Given the description of an element on the screen output the (x, y) to click on. 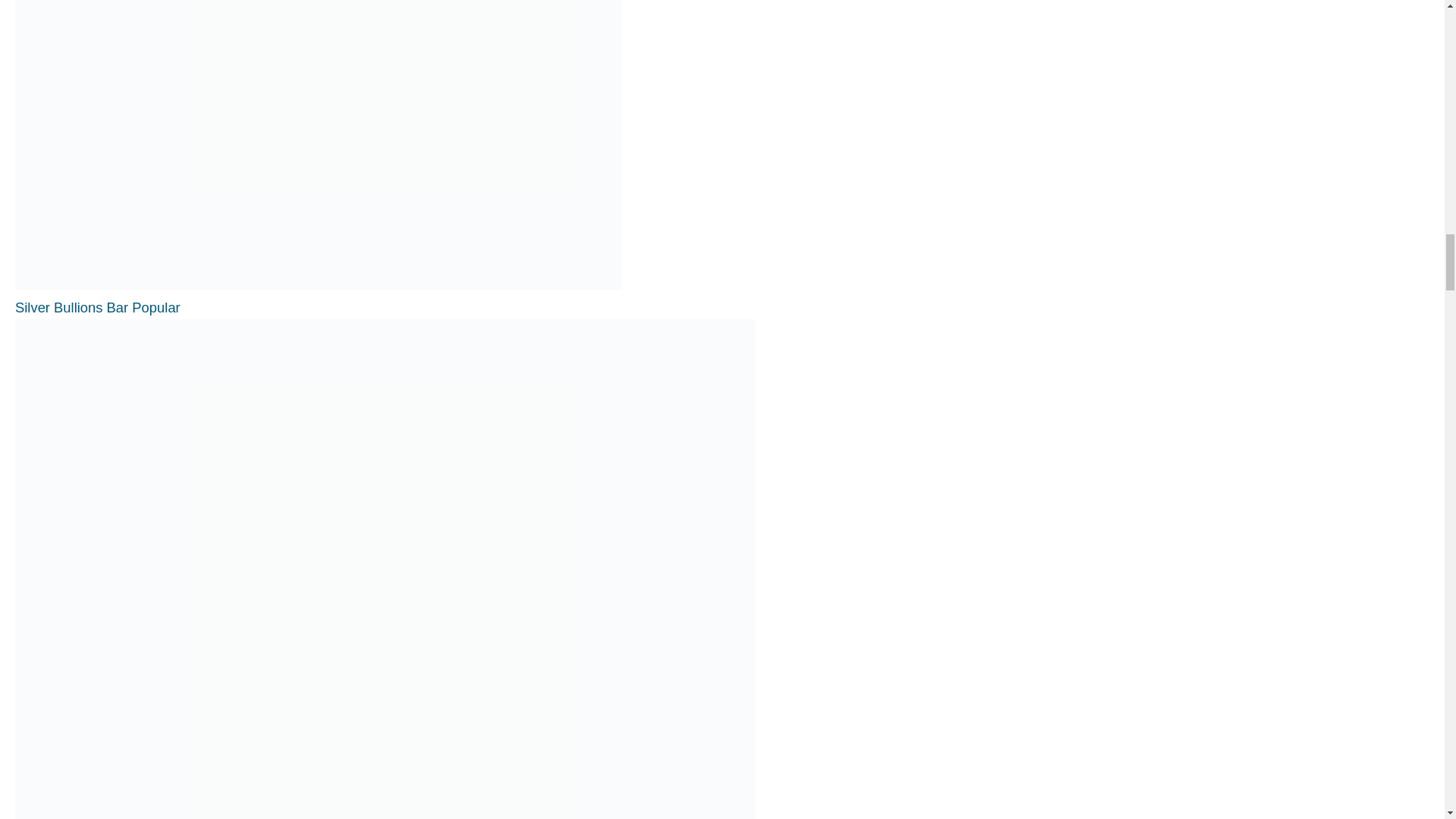
Silver Bullions Bar (97, 307)
